Given the description of an element on the screen output the (x, y) to click on. 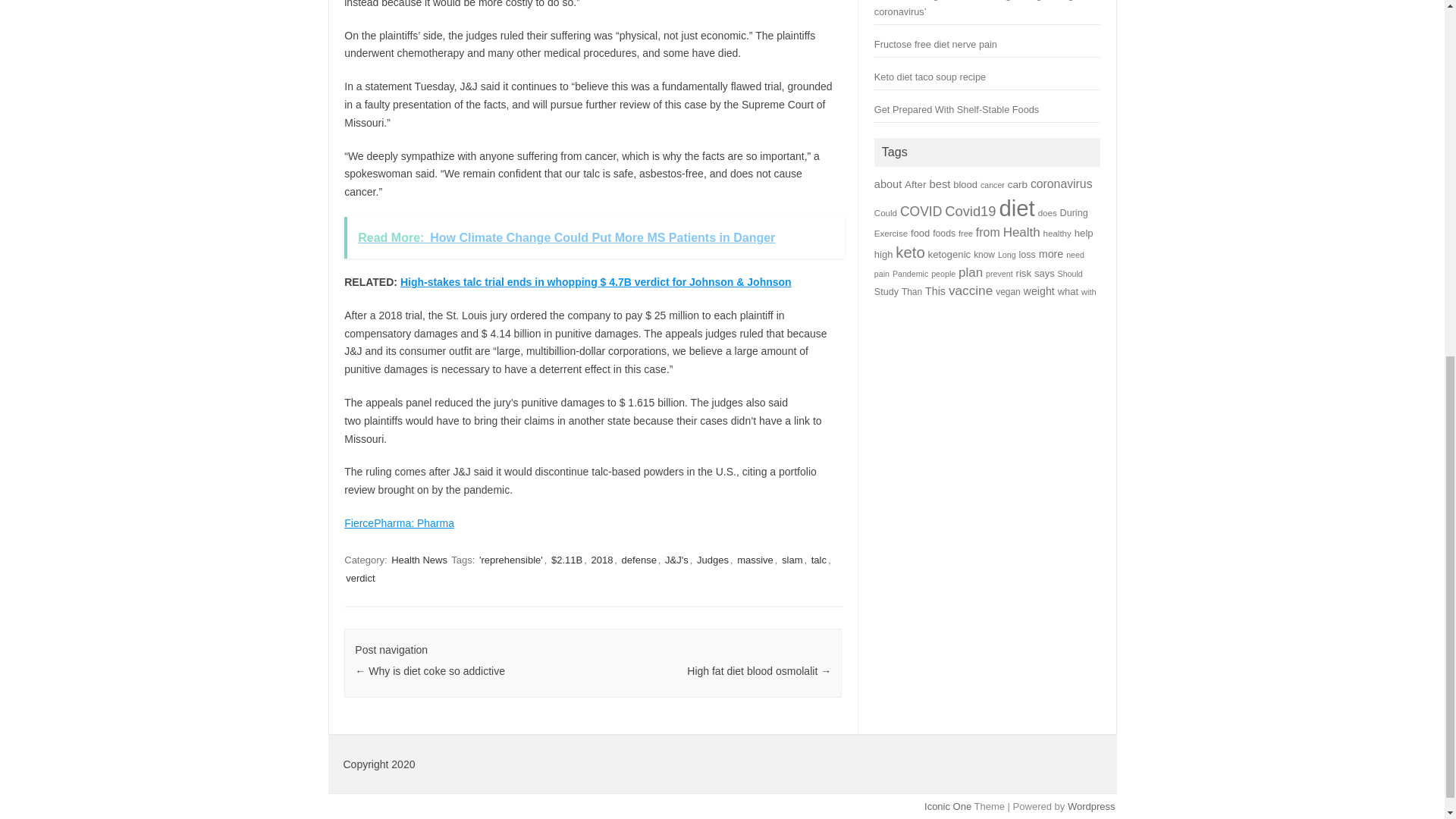
defense (639, 559)
'reprehensible' (510, 559)
2018 (601, 559)
Fructose free diet nerve pain (936, 43)
Keto diet taco soup recipe (930, 76)
about (888, 184)
Health News (419, 559)
slam (791, 559)
FiercePharma: Pharma (398, 522)
massive (754, 559)
talc (818, 559)
verdict (359, 577)
After (915, 184)
Judges (712, 559)
